Given the description of an element on the screen output the (x, y) to click on. 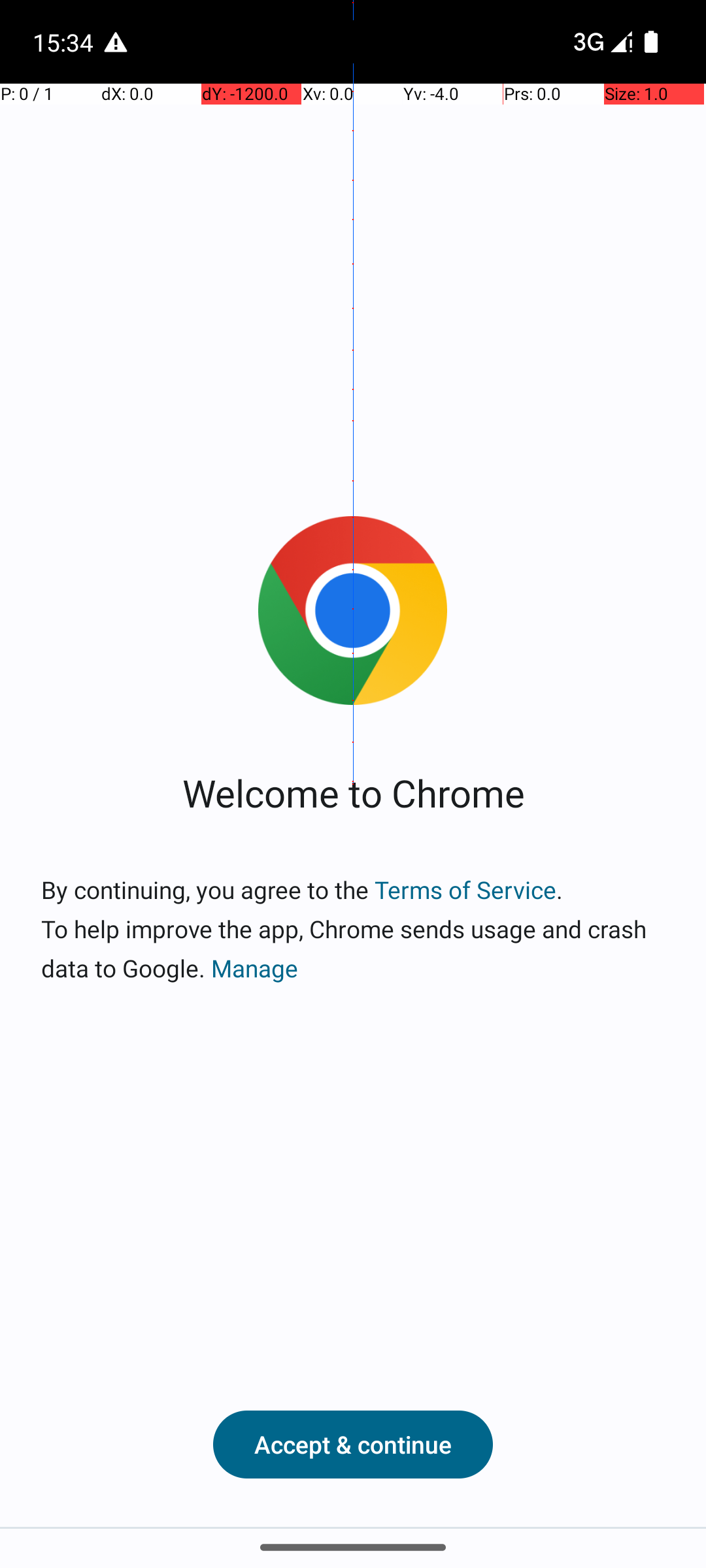
Accept & continue Element type: android.widget.Button (352, 1444)
Welcome to Chrome Element type: android.widget.TextView (352, 792)
By continuing, you agree to the Terms of Service.
To help improve the app, Chrome sends usage and crash data to Google. Manage Element type: android.widget.TextView (352, 928)
